Given the description of an element on the screen output the (x, y) to click on. 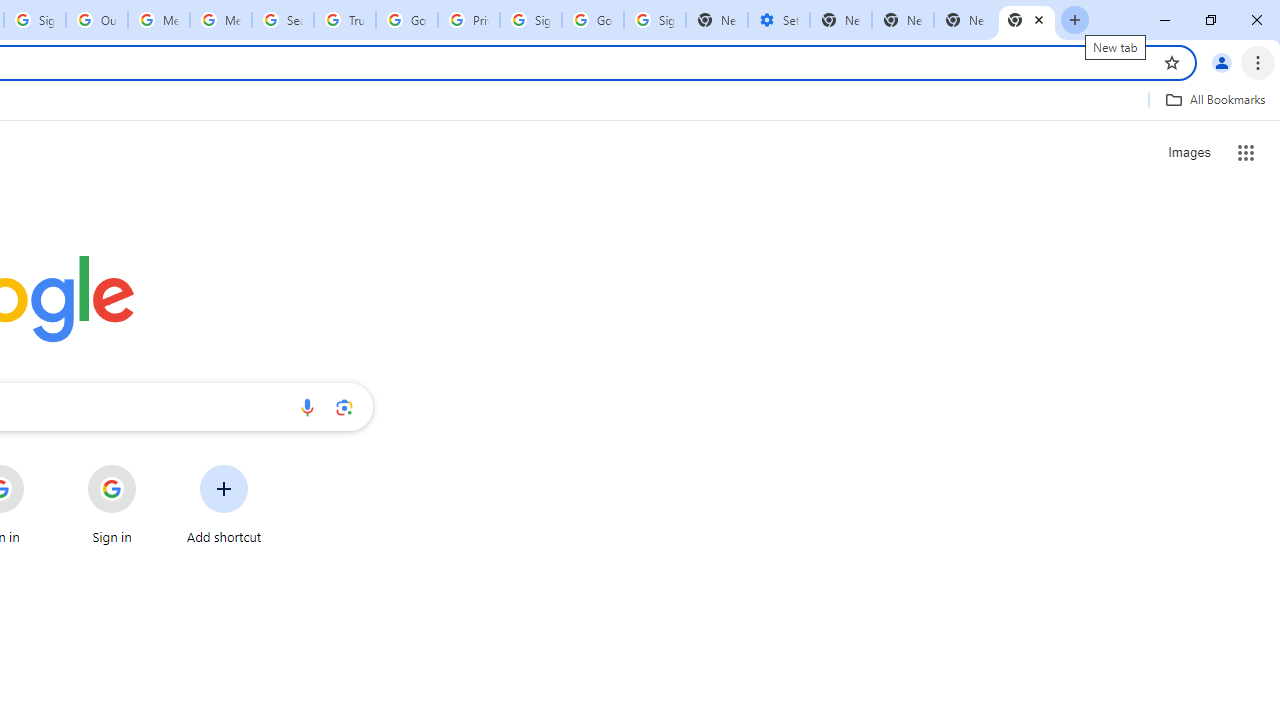
Add shortcut (223, 504)
Search for Images  (1188, 152)
More actions for Sign in shortcut (152, 466)
Trusted Information and Content - Google Safety Center (344, 20)
Sign in - Google Accounts (654, 20)
Sign in - Google Accounts (530, 20)
